Given the description of an element on the screen output the (x, y) to click on. 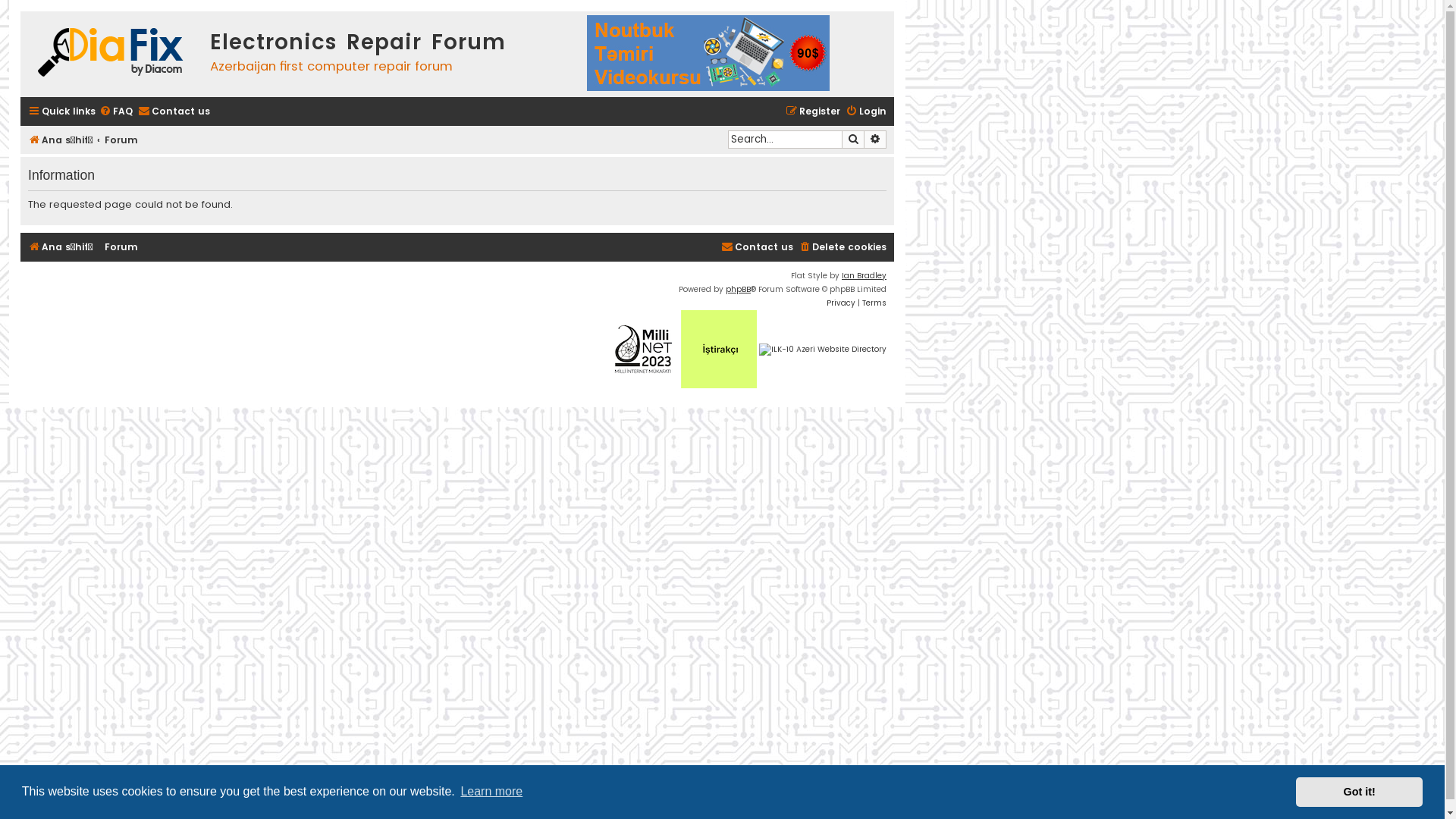
Privacy Element type: text (840, 303)
Forum Element type: text (121, 140)
FAQ Element type: text (115, 111)
Search Element type: text (852, 139)
Ian Bradley Element type: text (863, 275)
Advanced search Element type: text (875, 139)
Learn more Element type: text (491, 791)
Terms Element type: text (874, 303)
Contact us Element type: text (757, 247)
Got it! Element type: text (1358, 791)
Delete cookies Element type: text (842, 247)
phpBB Element type: text (737, 289)
Quick links Element type: text (61, 111)
Register Element type: text (812, 111)
Login Element type: text (865, 111)
Search for keywords Element type: hover (784, 139)
Contact us Element type: text (174, 111)
Forum Element type: text (121, 247)
